Given the description of an element on the screen output the (x, y) to click on. 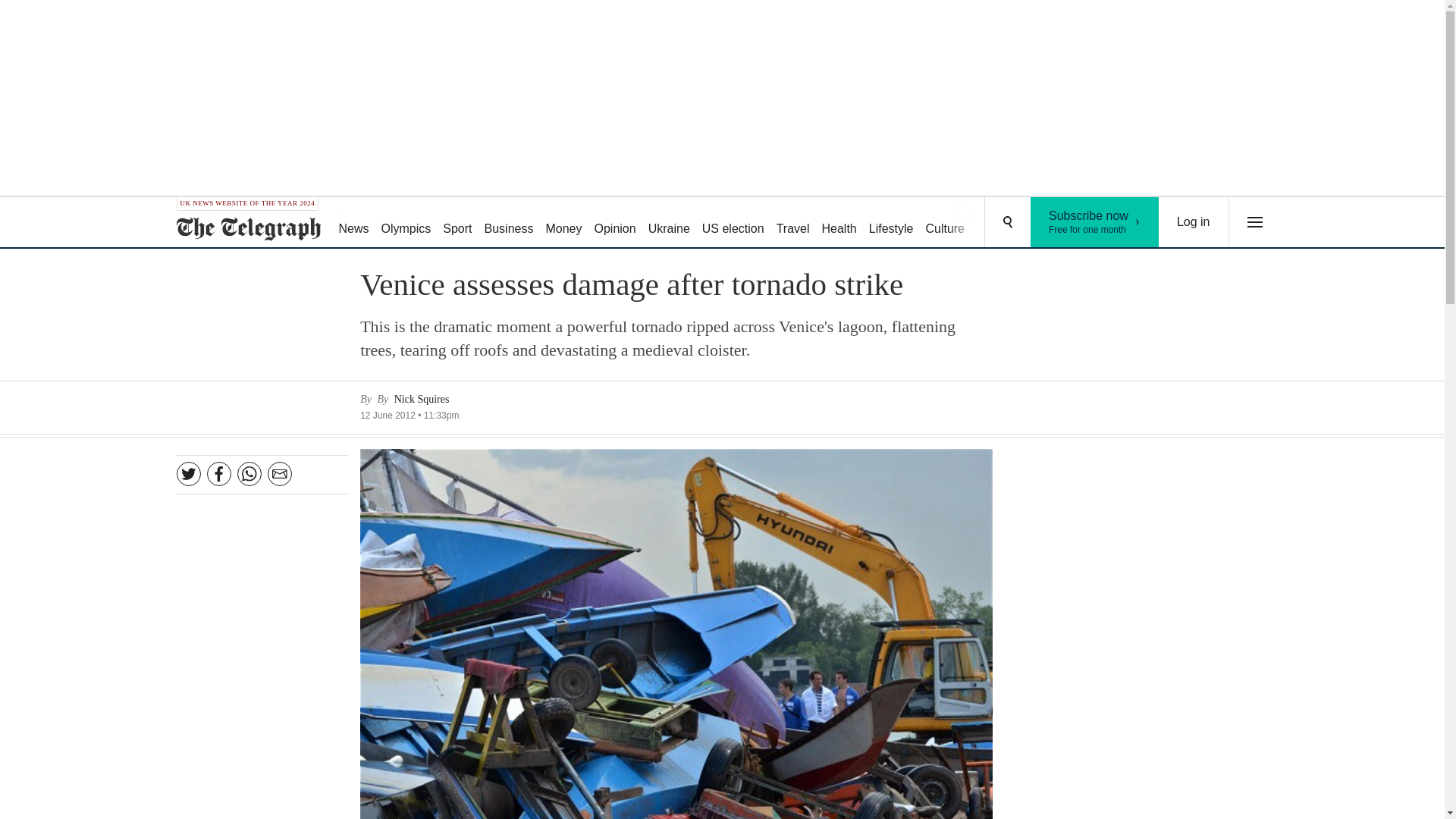
Podcasts (1056, 223)
Lifestyle (891, 223)
Log in (1193, 222)
Sport (1094, 222)
Money (456, 223)
Puzzles (563, 223)
Opinion (998, 223)
Business (615, 223)
Health (509, 223)
US election (838, 223)
Olympics (732, 223)
Travel (406, 223)
News (792, 223)
Ukraine (352, 223)
